Given the description of an element on the screen output the (x, y) to click on. 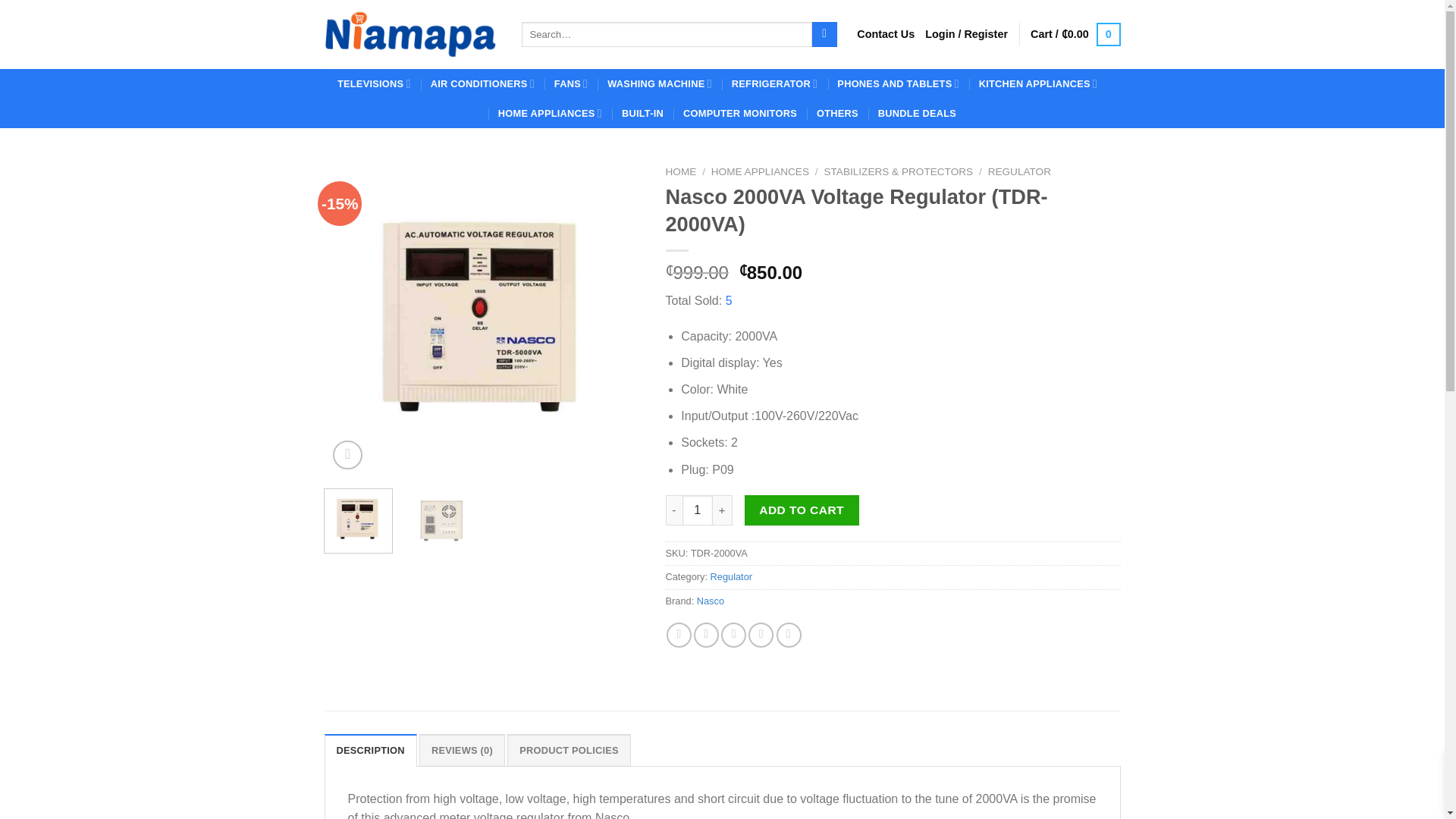
REFRIGERATOR (775, 83)
AIR CONDITIONERS (482, 83)
Search (824, 34)
1 (697, 510)
FANS (571, 83)
TELEVISIONS (373, 83)
Niamapa - Best Online Store In Ghana (411, 34)
Zoom (347, 455)
Login (965, 33)
PHONES AND TABLETS (897, 83)
Share on Facebook (678, 634)
Share on Twitter (706, 634)
- (673, 510)
Cart (1074, 33)
WASHING MACHINE (659, 83)
